Given the description of an element on the screen output the (x, y) to click on. 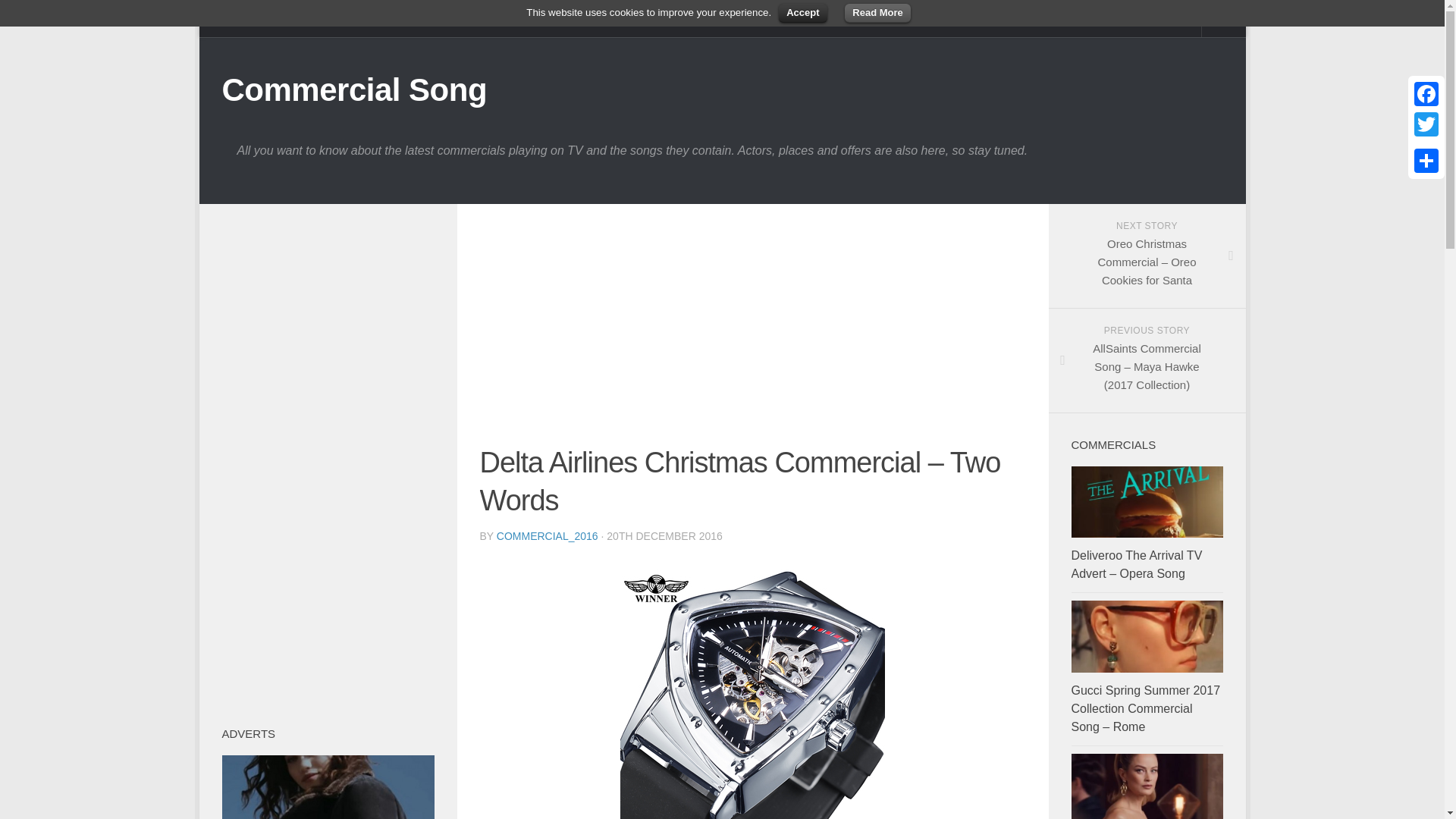
Tracklists (400, 18)
Commercial Song (353, 90)
Trailers (466, 18)
Adverts (333, 18)
Advertisement (752, 332)
Missguided Outerwear Advert Song 2016 (327, 787)
Commercials (256, 18)
